Given the description of an element on the screen output the (x, y) to click on. 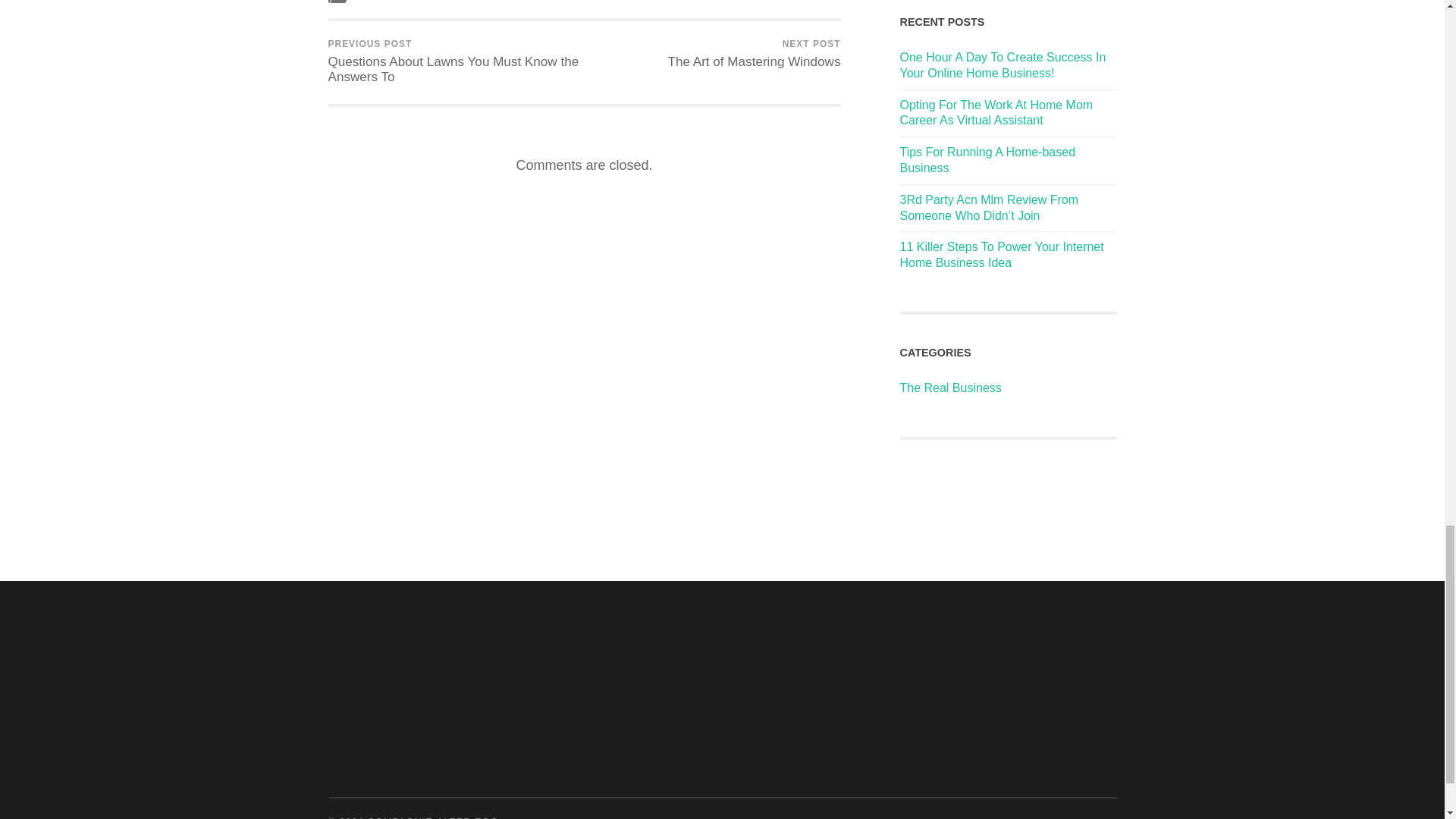
Web Resources (396, 1)
